Given the description of an element on the screen output the (x, y) to click on. 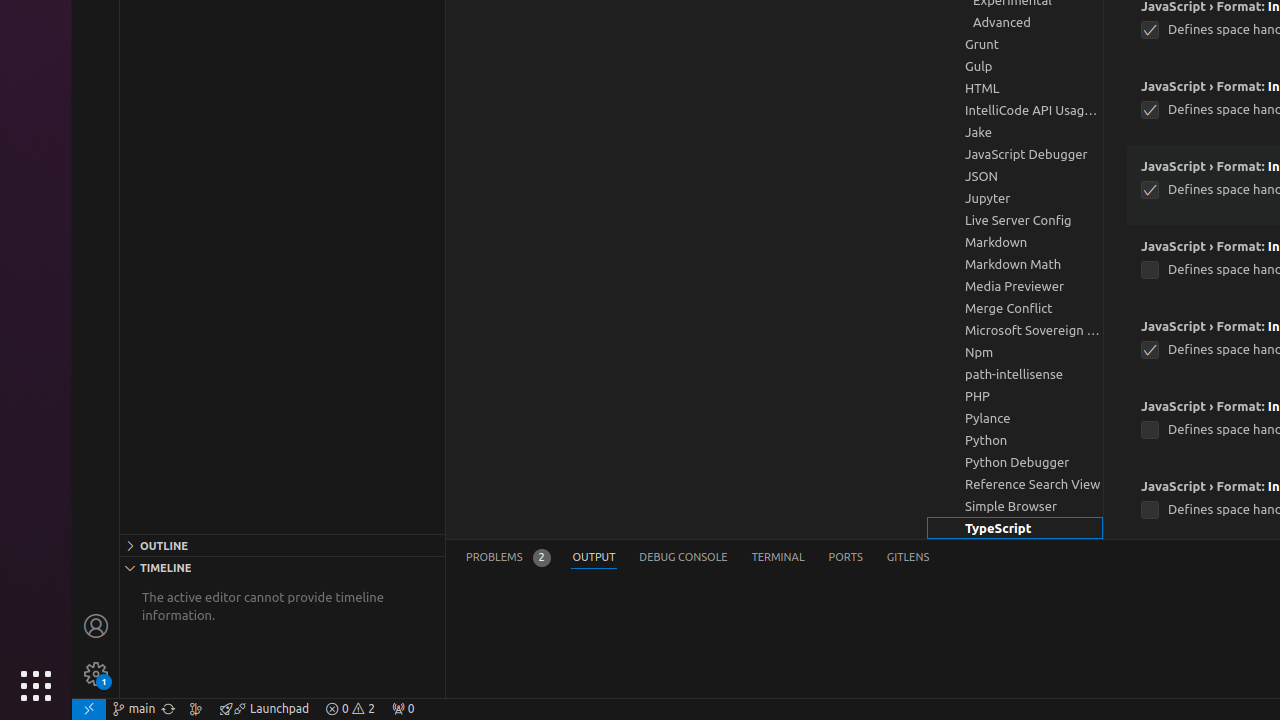
OSWorld (Git) - main, Checkout Branch/Tag... Element type: push-button (134, 709)
Terminal (Ctrl+`) Element type: page-tab (778, 557)
IntelliCode API Usage Examples, group Element type: tree-item (1015, 110)
rocket gitlens-unplug Launchpad, GitLens Launchpad ᴘʀᴇᴠɪᴇᴡ    &mdash;    [$(question)](command:gitlens.launchpad.indicator.action?%22info%22 "What is this?") [$(gear)](command:workbench.action.openSettings?%22gitlens.launchpad%22 "Settings")  |  [$(circle-slash) Hide](command:gitlens.launchpad.indicator.action?%22hide%22 "Hide") --- [Launchpad](command:gitlens.launchpad.indicator.action?%info%22 "Learn about Launchpad") organizes your pull requests into actionable groups to help you focus and keep your team unblocked. It's always accessible using the `GitLens: Open Launchpad` command from the Command Palette. --- [Connect an integration](command:gitlens.showLaunchpad?%7B%22source%22%3A%22launchpad-indicator%22%7D "Connect an integration") to get started. Element type: push-button (264, 709)
Show the GitLens Commit Graph Element type: push-button (196, 709)
